Given the description of an element on the screen output the (x, y) to click on. 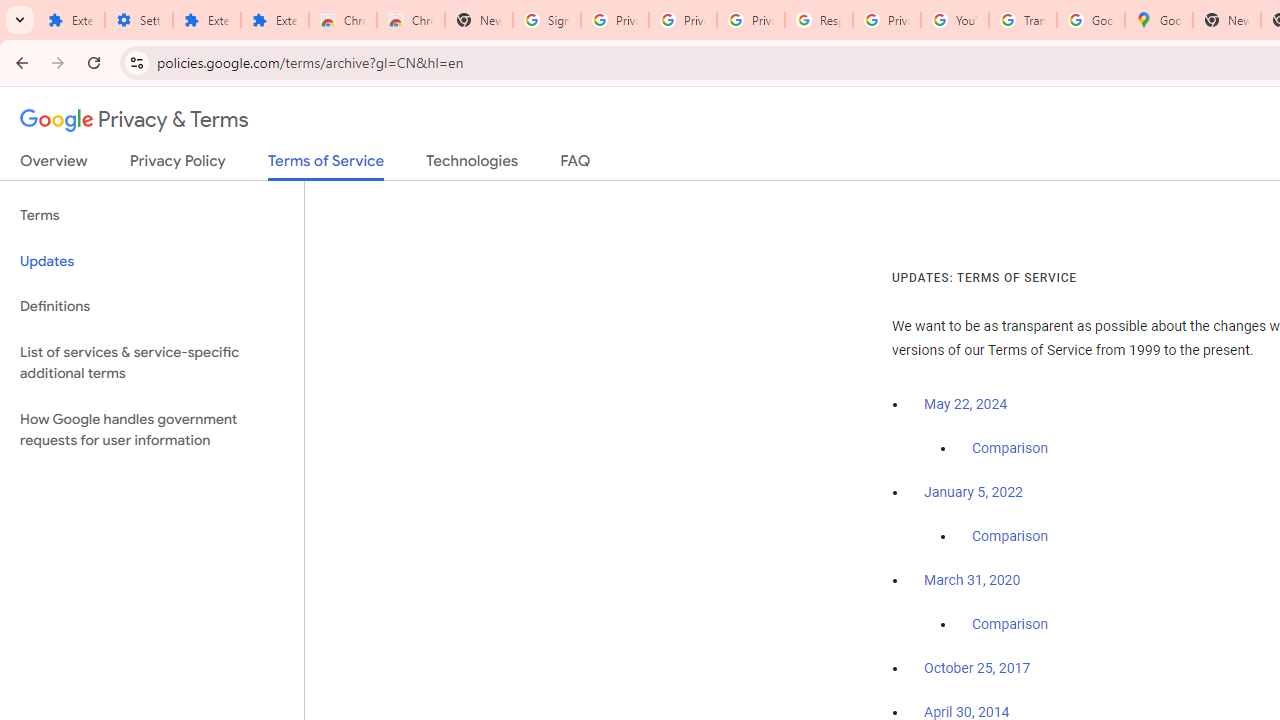
Extensions (206, 20)
March 31, 2020 (972, 580)
Google Maps (1158, 20)
New Tab (1226, 20)
January 5, 2022 (973, 492)
Settings (138, 20)
Extensions (70, 20)
List of services & service-specific additional terms (152, 362)
